Given the description of an element on the screen output the (x, y) to click on. 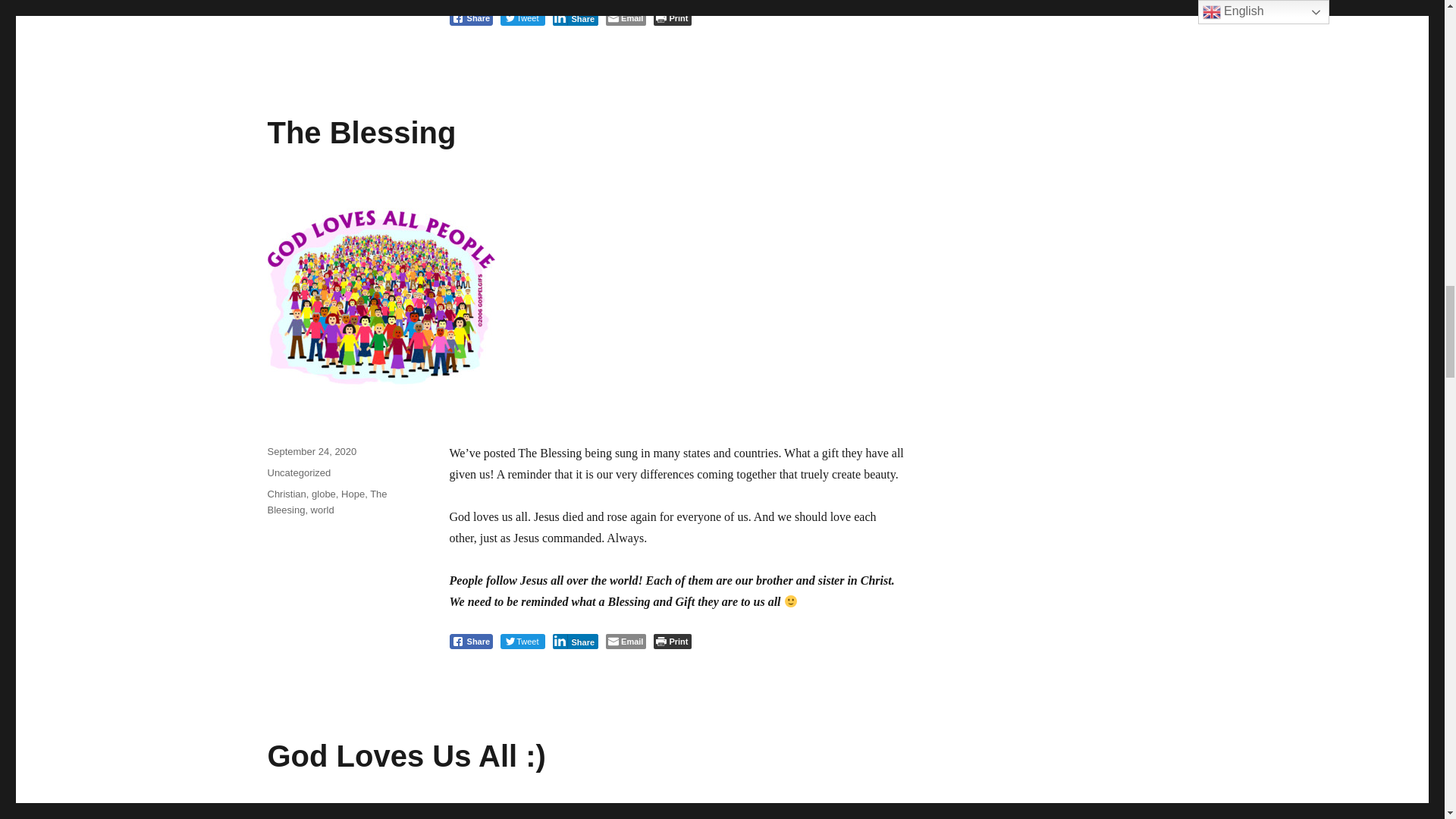
Email (625, 17)
Share (470, 17)
Print (671, 17)
Share (574, 17)
Tweet (522, 17)
